Given the description of an element on the screen output the (x, y) to click on. 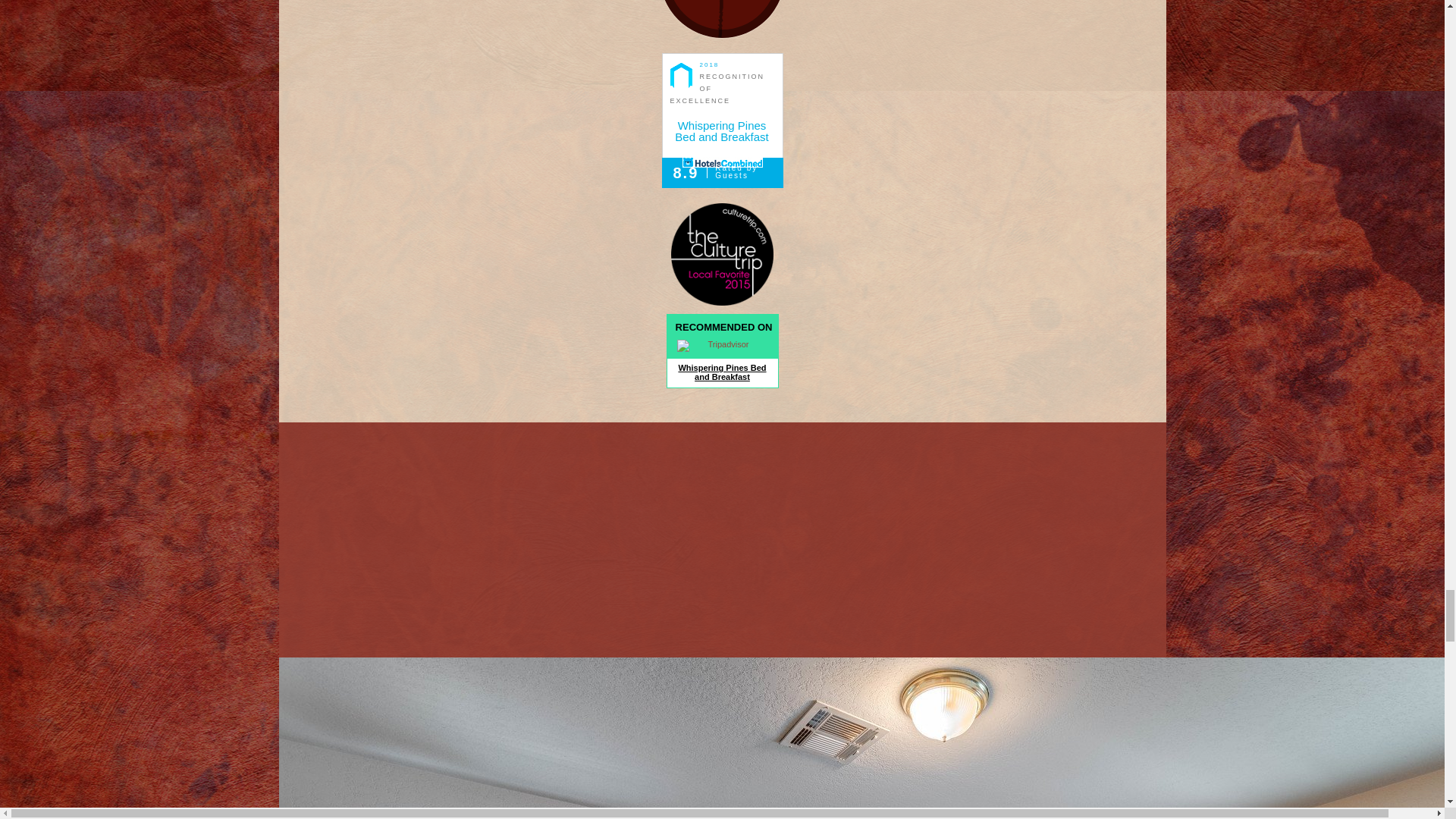
Whispering Pines Bed and Breakfast (721, 130)
